Given the description of an element on the screen output the (x, y) to click on. 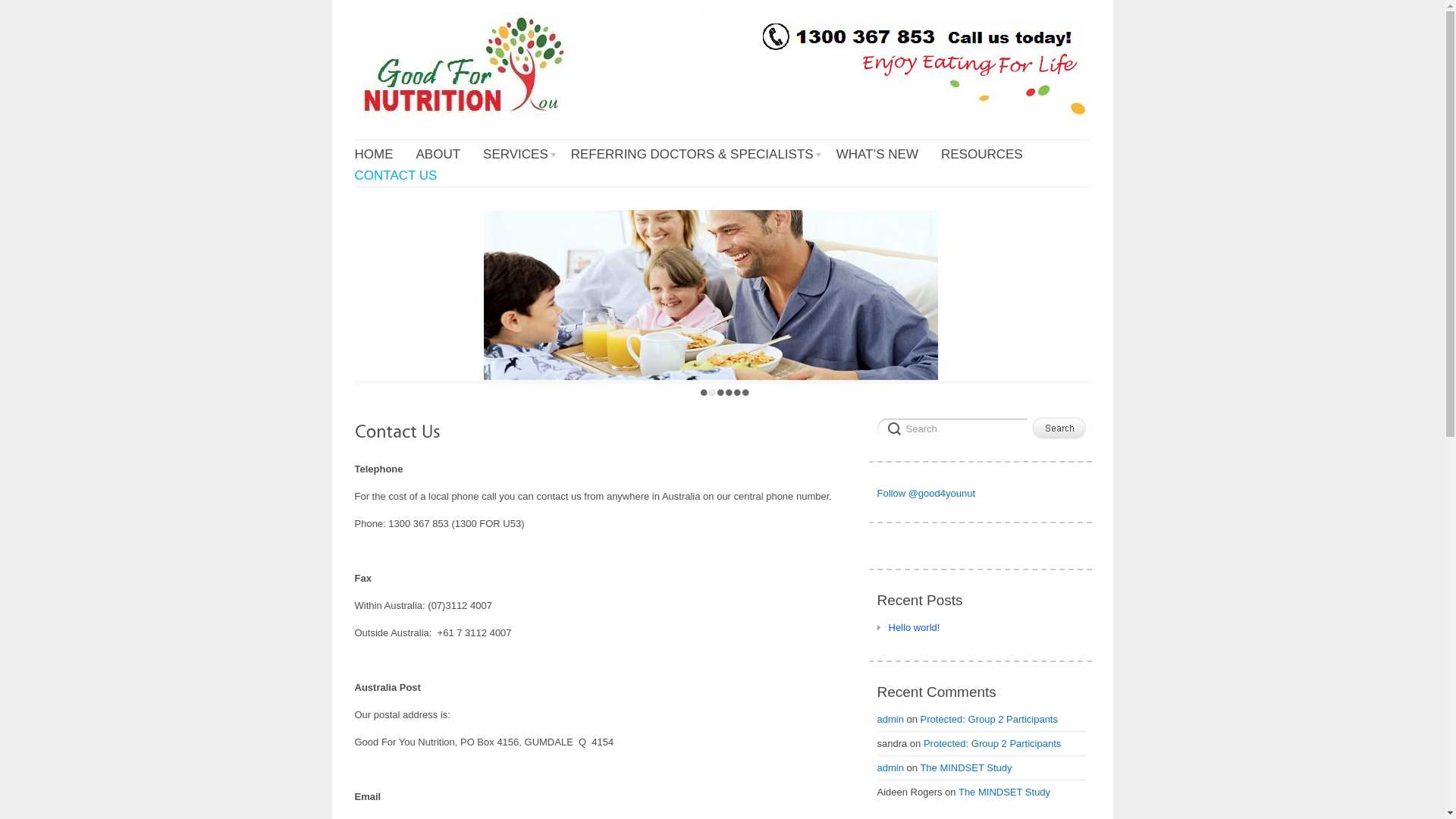
Protected: Group 2 Participants Element type: text (988, 718)
admin Element type: text (889, 767)
search Element type: hover (951, 426)
Follow @good4younut Element type: text (925, 492)
ABOUT Element type: text (437, 154)
Search Element type: hover (1058, 428)
RESOURCES Element type: text (981, 154)
The MINDSET Study Element type: text (965, 767)
HOME Element type: text (373, 154)
4 Element type: text (728, 392)
admin Element type: text (889, 718)
Hello world! Element type: text (907, 627)
CONTACT US Element type: text (395, 175)
The MINDSET Study Element type: text (1004, 791)
6 Element type: text (745, 392)
2 Element type: text (712, 392)
3 Element type: text (720, 392)
5 Element type: text (737, 392)
1 Element type: text (703, 392)
Search Element type: text (951, 426)
Protected: Group 2 Participants Element type: text (991, 743)
